Given the description of an element on the screen output the (x, y) to click on. 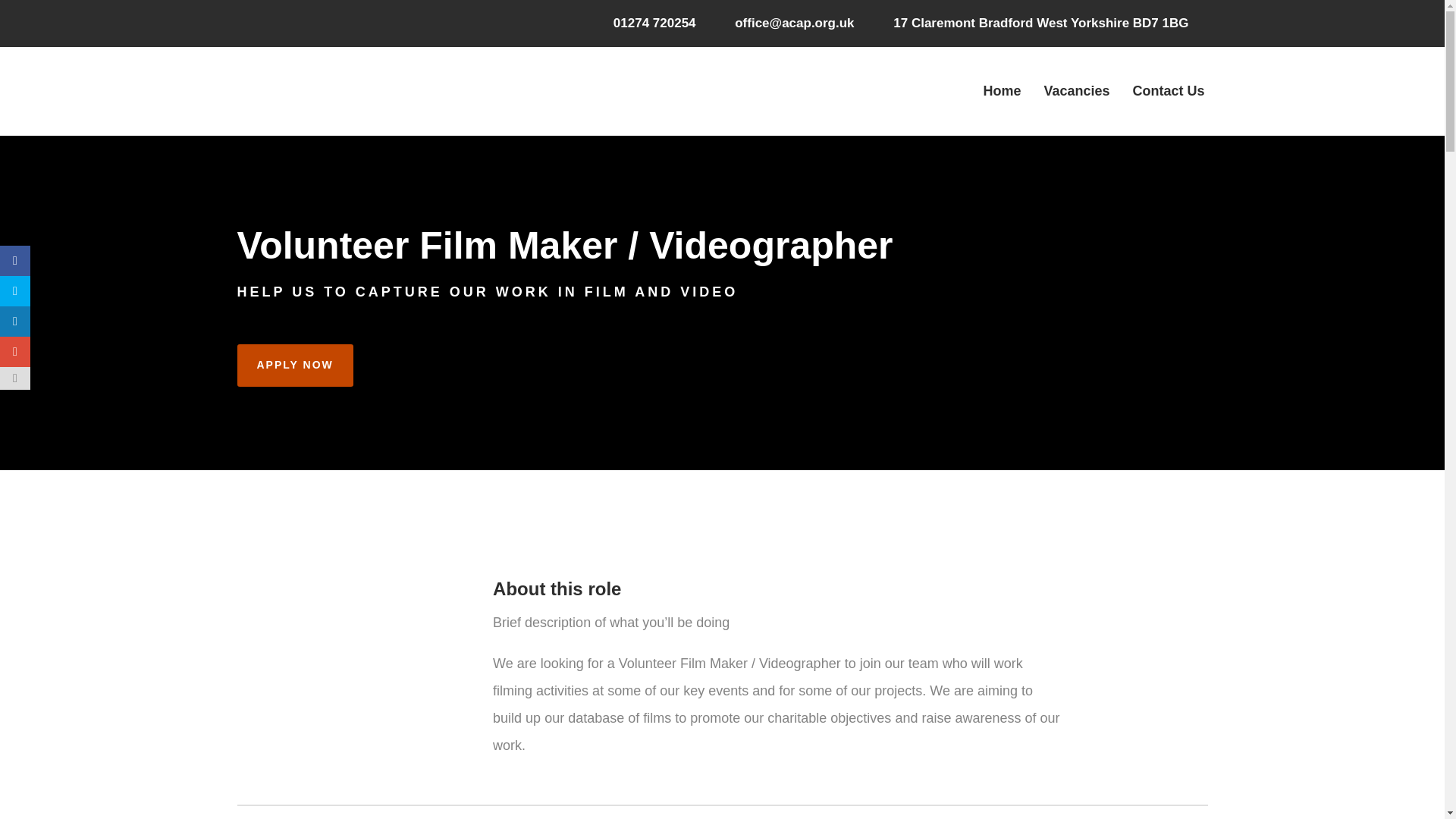
Vacancies (1075, 90)
Home (1001, 90)
Contact Us (1167, 90)
01274 720254 (653, 22)
APPLY NOW (293, 364)
